Given the description of an element on the screen output the (x, y) to click on. 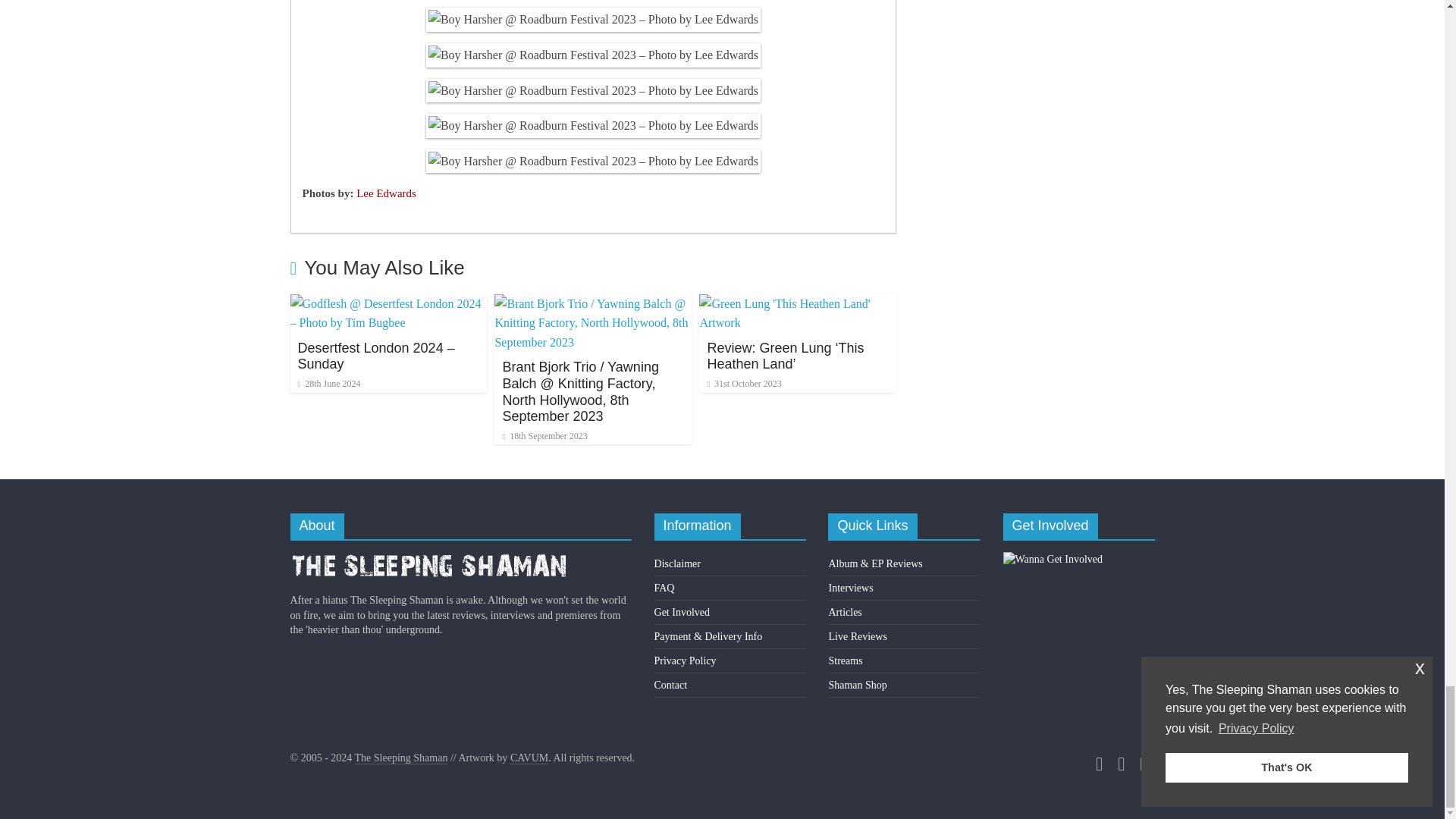
12:00 pm (328, 383)
